Given the description of an element on the screen output the (x, y) to click on. 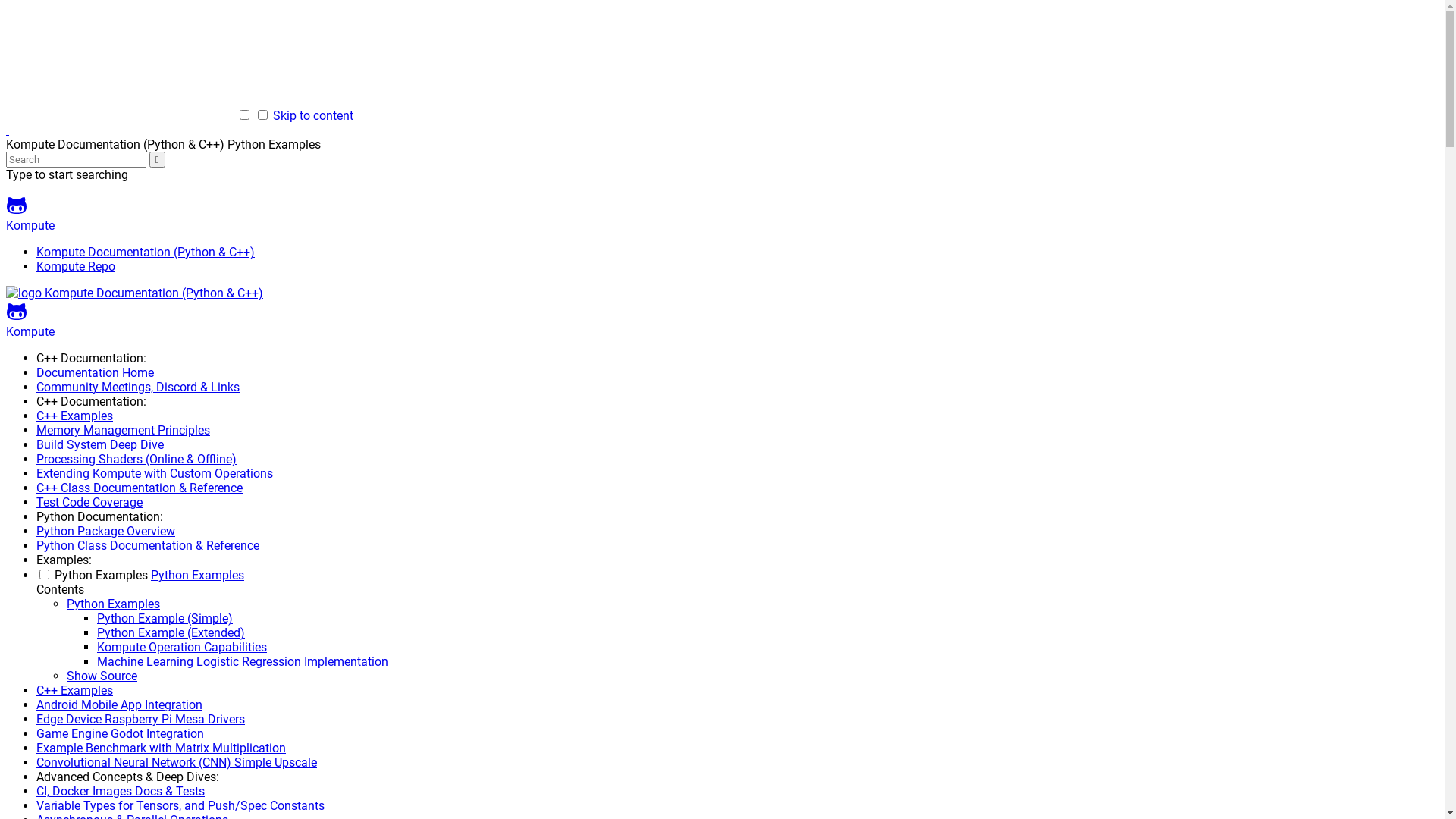
Convolutional Neural Network (CNN) Simple Upscale Element type: text (176, 762)
Variable Types for Tensors, and Push/Spec Constants Element type: text (180, 805)
Community Meetings, Discord & Links Element type: text (137, 386)
Documentation Home Element type: text (94, 372)
Kompute Operation Capabilities Element type: text (181, 647)
C++ Examples Element type: text (74, 415)
Show Source Element type: text (101, 675)
Example Benchmark with Matrix Multiplication Element type: text (160, 747)
Kompute Element type: text (722, 319)
  Element type: text (7, 129)
Game Engine Godot Integration Element type: text (119, 733)
Extending Kompute with Custom Operations Element type: text (154, 473)
Python Package Overview Element type: text (105, 531)
Kompute Repo Element type: text (75, 266)
Kompute Documentation (Python & C++) Element type: text (145, 251)
Machine Learning Logistic Regression Implementation Element type: text (242, 661)
Skip to content Element type: text (313, 115)
Kompute Documentation (Python & C++) Element type: hover (25, 292)
C++ Class Documentation & Reference Element type: text (139, 487)
Edge Device Raspberry Pi Mesa Drivers Element type: text (140, 719)
Python Class Documentation & Reference Element type: text (147, 545)
Python Example (Simple) Element type: text (164, 618)
Kompute Documentation (Python & C++) Element type: hover (7, 129)
Python Examples Element type: text (113, 603)
Android Mobile App Integration Element type: text (119, 704)
Memory Management Principles Element type: text (123, 430)
Build System Deep Dive Element type: text (99, 444)
Processing Shaders (Online & Offline) Element type: text (136, 458)
Test Code Coverage Element type: text (89, 502)
Kompute Documentation (Python & C++) Element type: text (153, 292)
Python Example (Extended) Element type: text (170, 632)
C++ Examples Element type: text (74, 690)
Python Examples Element type: text (197, 574)
Kompute Element type: text (722, 213)
CI, Docker Images Docs & Tests Element type: text (120, 791)
